Given the description of an element on the screen output the (x, y) to click on. 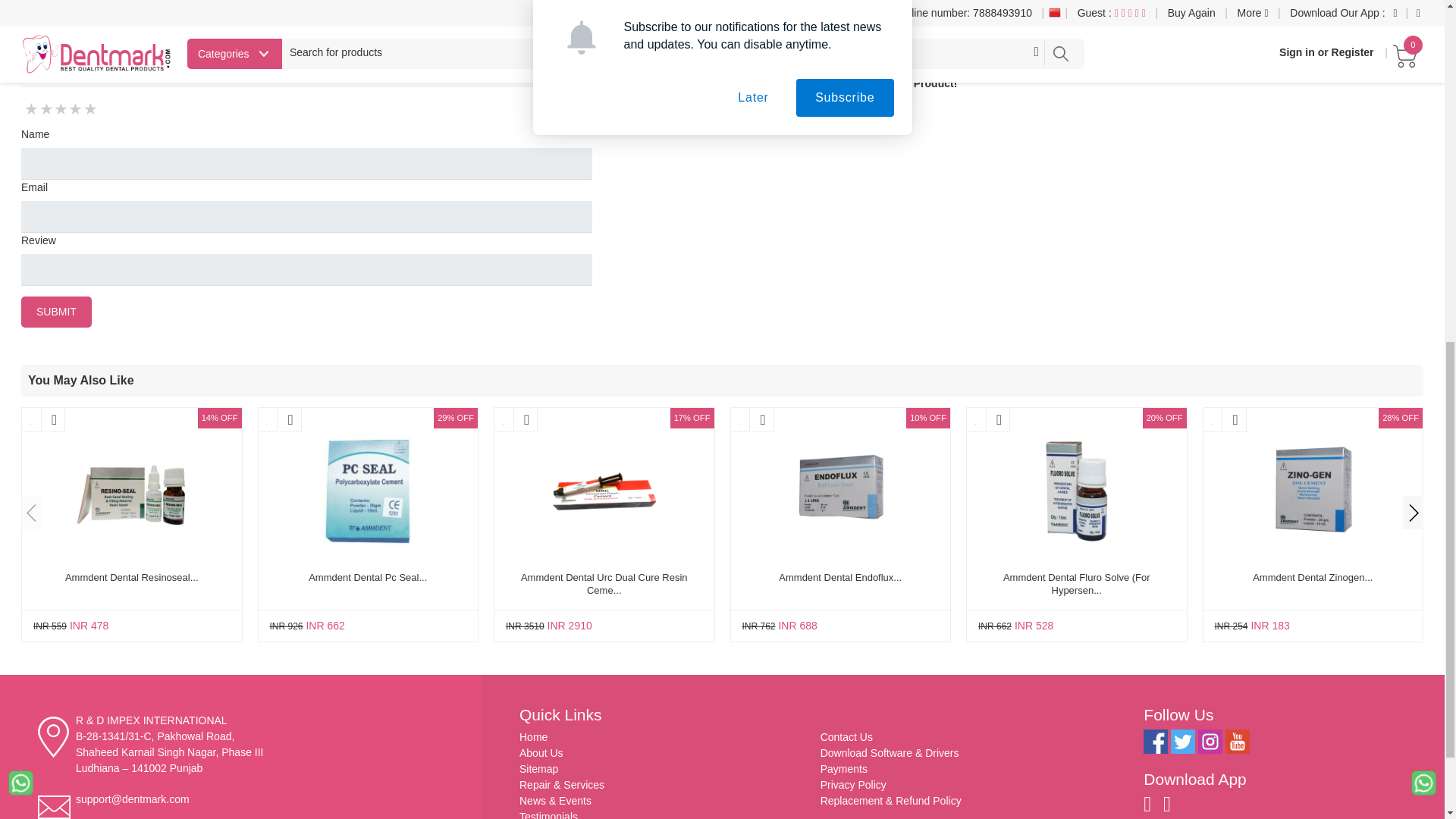
Submit (56, 311)
